Given the description of an element on the screen output the (x, y) to click on. 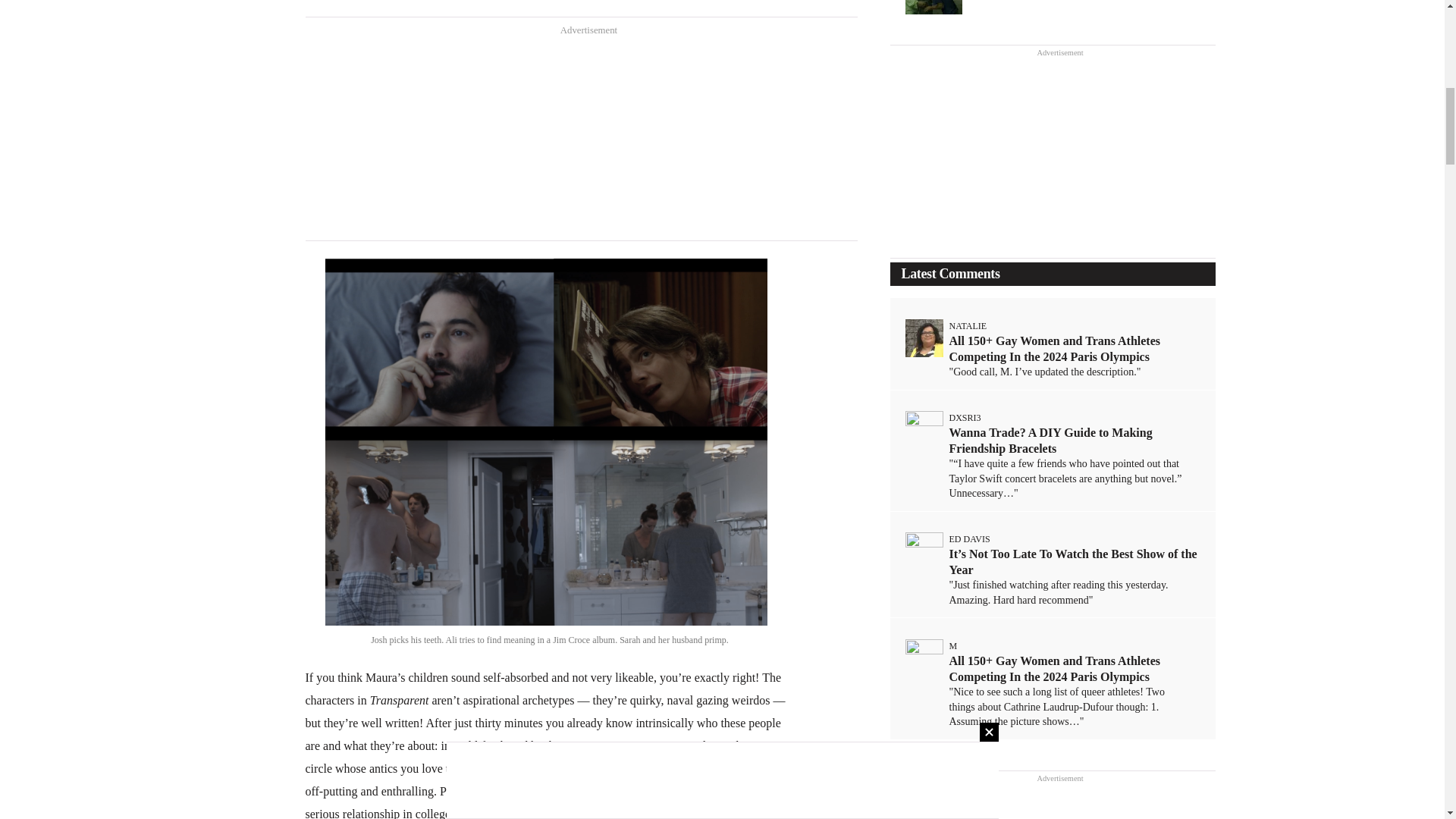
3rd party ad content (580, 137)
